Given the description of an element on the screen output the (x, y) to click on. 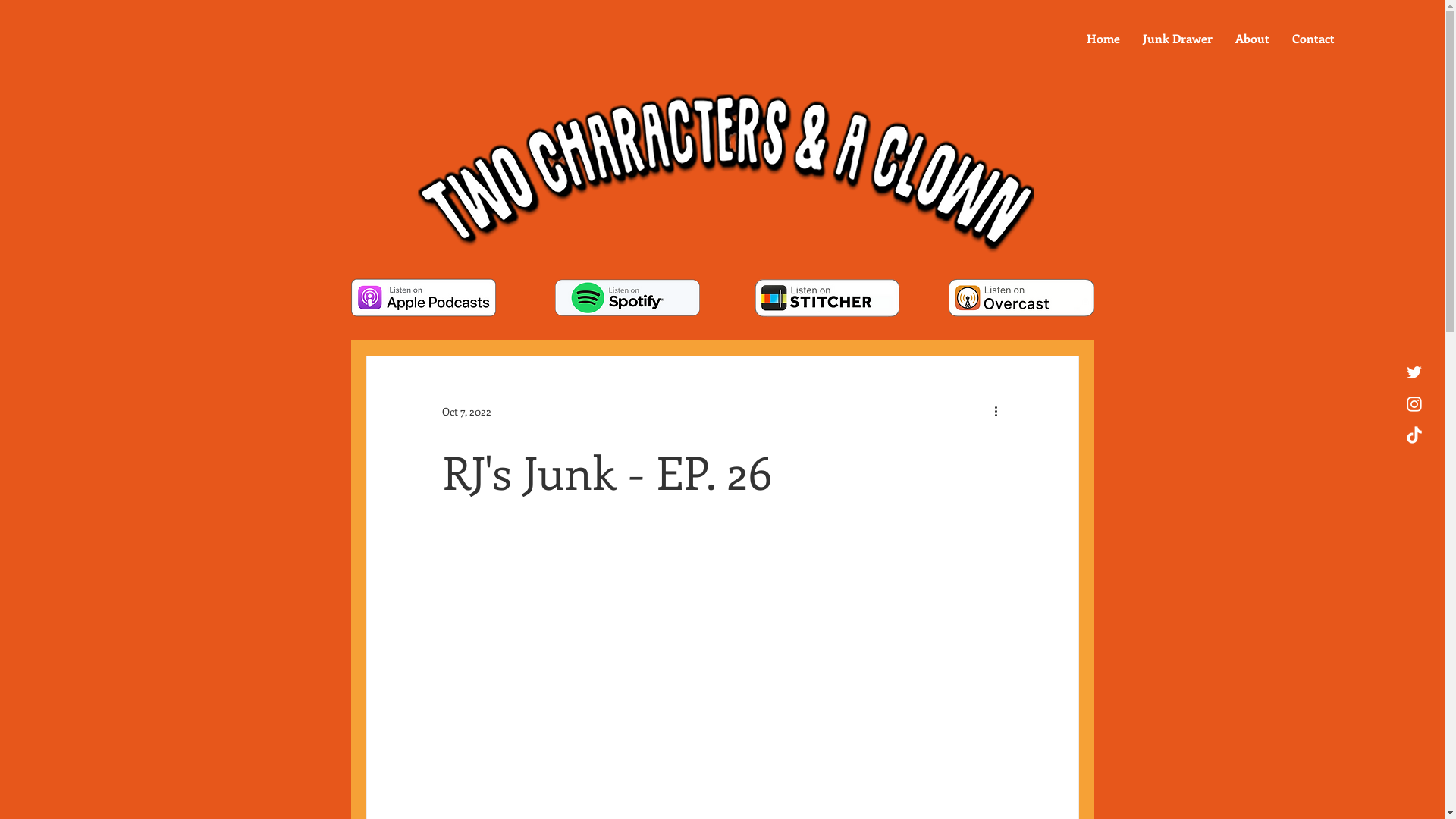
About Element type: text (1251, 38)
Home Element type: text (1103, 38)
Contact Element type: text (1313, 38)
Junk Drawer Element type: text (1177, 38)
